Given the description of an element on the screen output the (x, y) to click on. 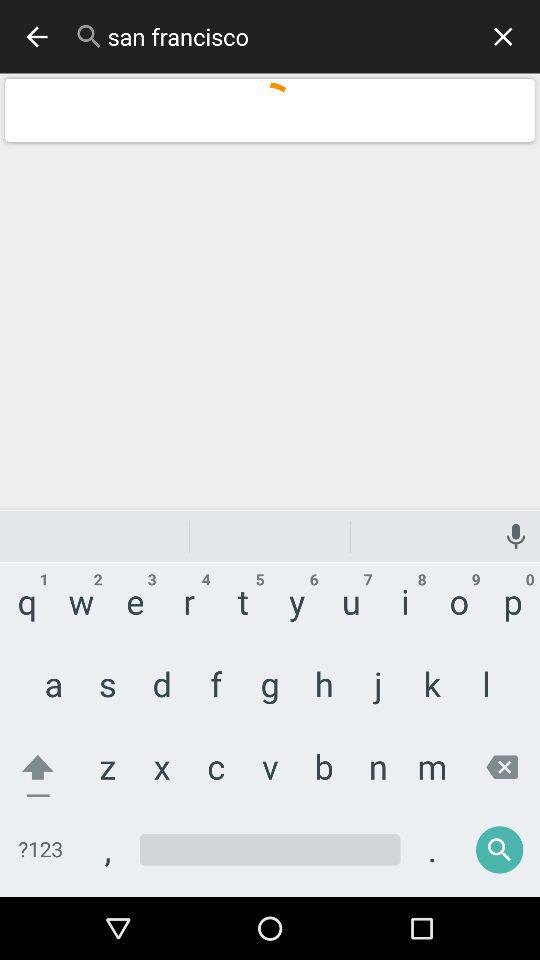
click on the icon beside san (88, 36)
